Given the description of an element on the screen output the (x, y) to click on. 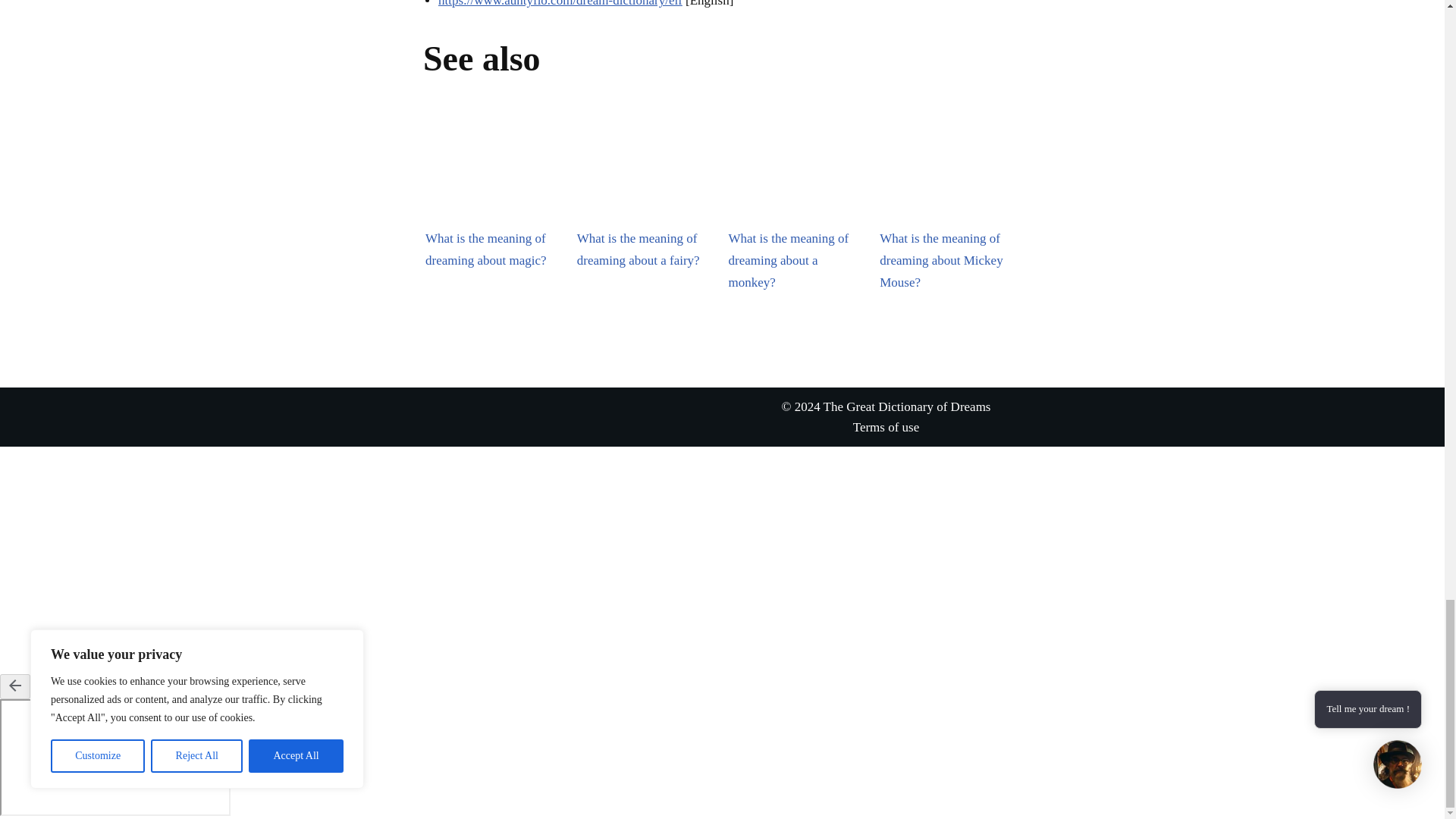
What is the meaning of dreaming about a monkey? (797, 171)
What is the meaning of dreaming about Mickey Mouse? (949, 171)
What is the meaning of dreaming about magic? (494, 171)
What is the meaning of dreaming about a fairy? (646, 171)
